Given the description of an element on the screen output the (x, y) to click on. 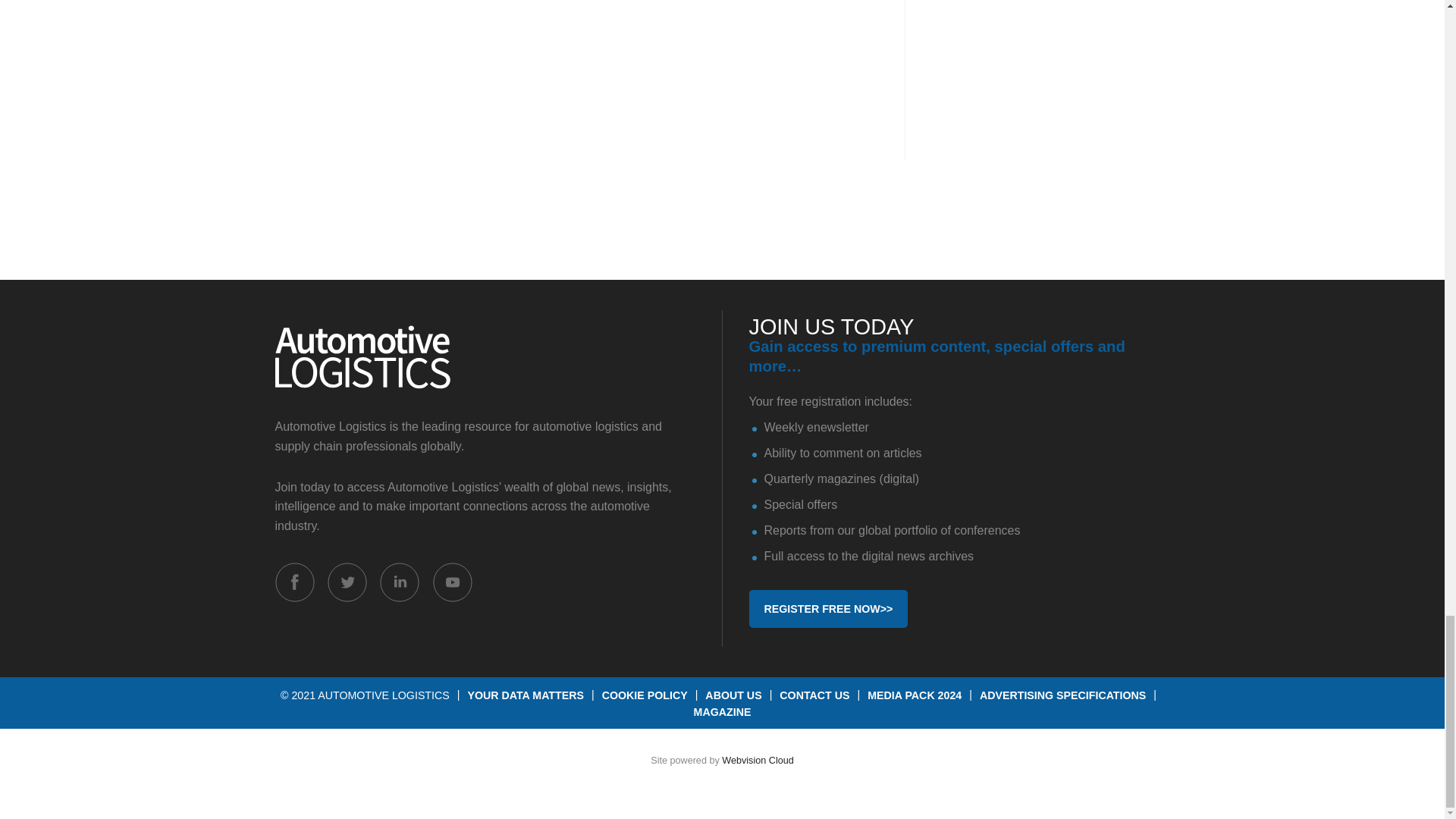
Connect with us on Twitter (346, 581)
Connect with us on Linked In (399, 581)
Connect with us on Youtube (451, 581)
Connect with us on Facebook (294, 581)
